Given the description of an element on the screen output the (x, y) to click on. 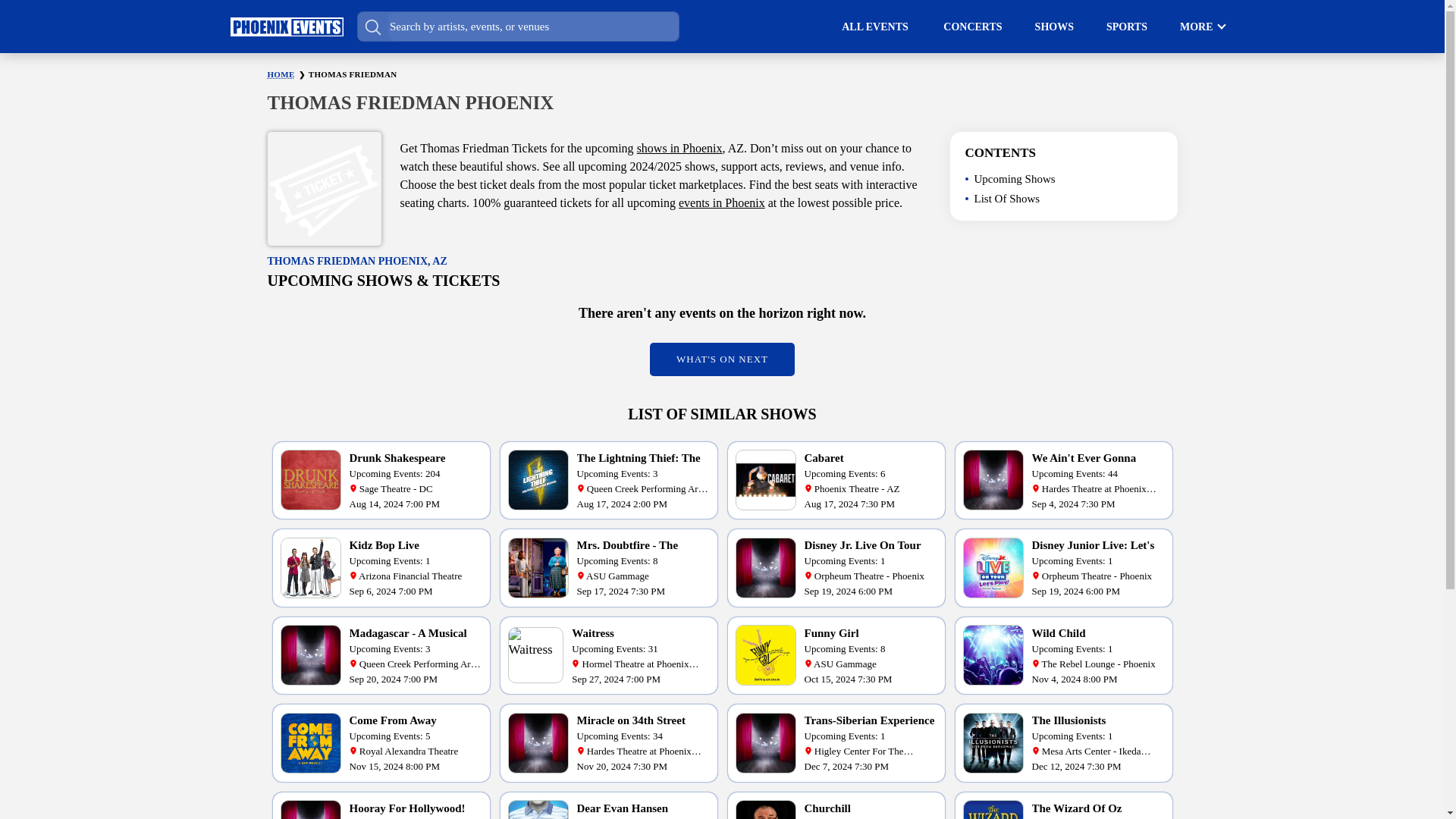
MORE (1195, 26)
shows in Phoenix (679, 147)
